Given the description of an element on the screen output the (x, y) to click on. 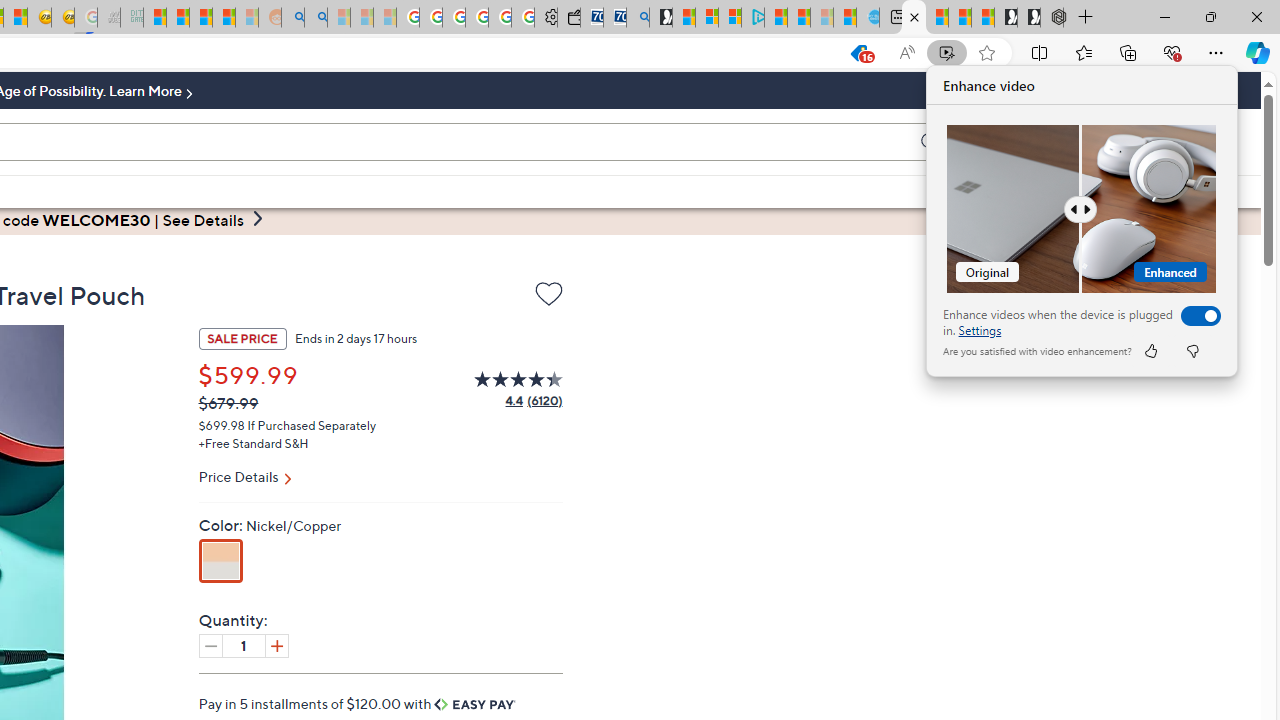
You have the best price! (858, 53)
SALE PRICE (242, 337)
Quantity (243, 645)
Enhance videos (1196, 316)
Utah sues federal government - Search (315, 17)
Student Loan Update: Forgiveness Program Ends This Month (223, 17)
